Given the description of an element on the screen output the (x, y) to click on. 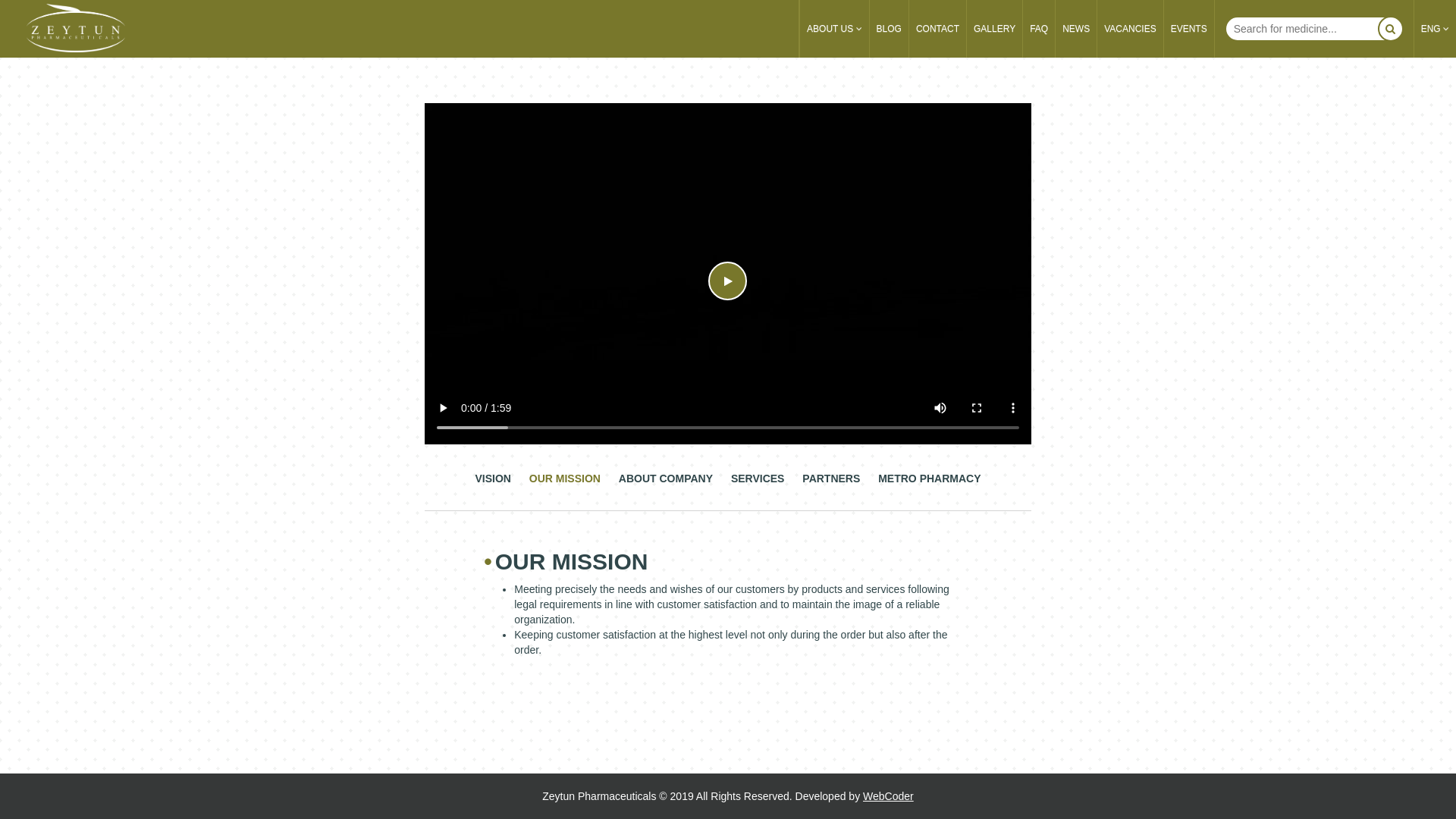
VACANCIES Element type: text (1129, 28)
VISION Element type: text (492, 486)
CONTACT Element type: text (937, 28)
EVENTS Element type: text (1189, 28)
BLOG Element type: text (888, 28)
NEWS Element type: text (1075, 28)
OUR MISSION Element type: text (564, 486)
WebCoder Element type: text (887, 796)
PARTNERS Element type: text (830, 486)
ABOUT US Element type: text (834, 28)
FAQ Element type: text (1038, 28)
GALLERY Element type: text (994, 28)
SERVICES Element type: text (757, 486)
ABOUT COMPANY Element type: text (665, 486)
METRO PHARMACY Element type: text (929, 486)
